Given the description of an element on the screen output the (x, y) to click on. 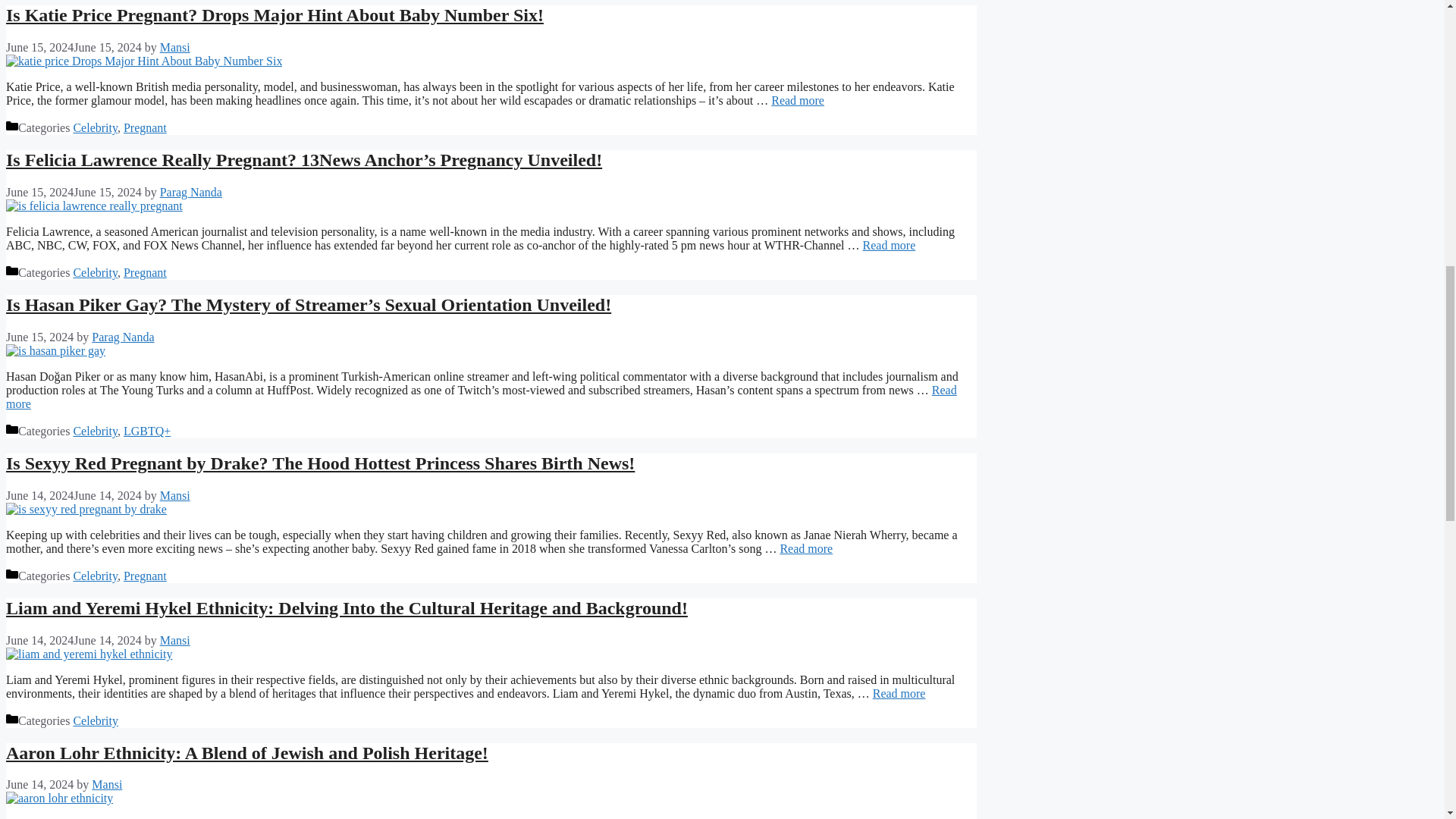
View all posts by Mansi (175, 495)
View all posts by Parag Nanda (191, 192)
View all posts by Mansi (175, 47)
View all posts by Parag Nanda (122, 336)
Mansi (175, 47)
